Given the description of an element on the screen output the (x, y) to click on. 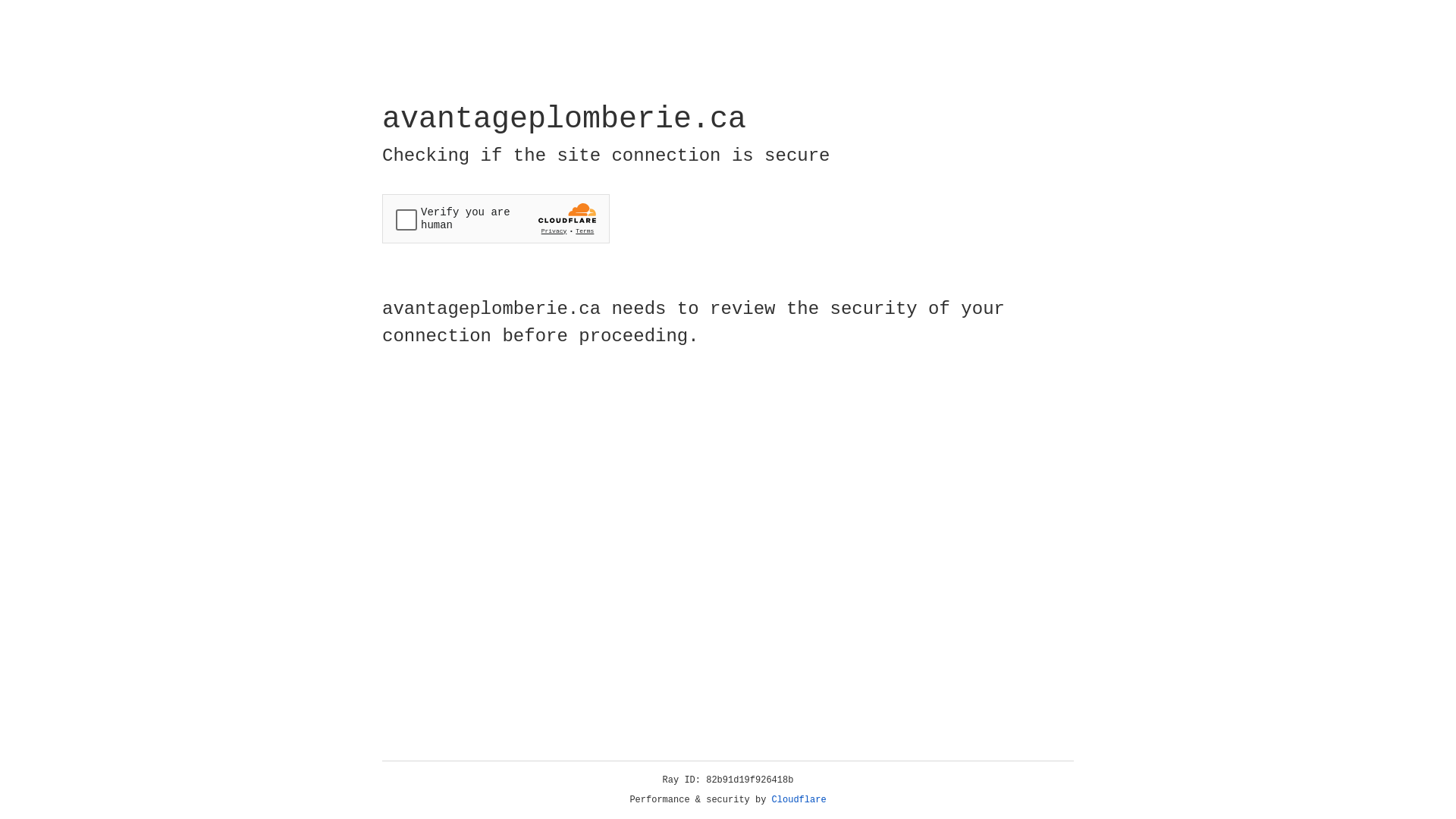
Cloudflare Element type: text (798, 799)
Widget containing a Cloudflare security challenge Element type: hover (495, 218)
